Given the description of an element on the screen output the (x, y) to click on. 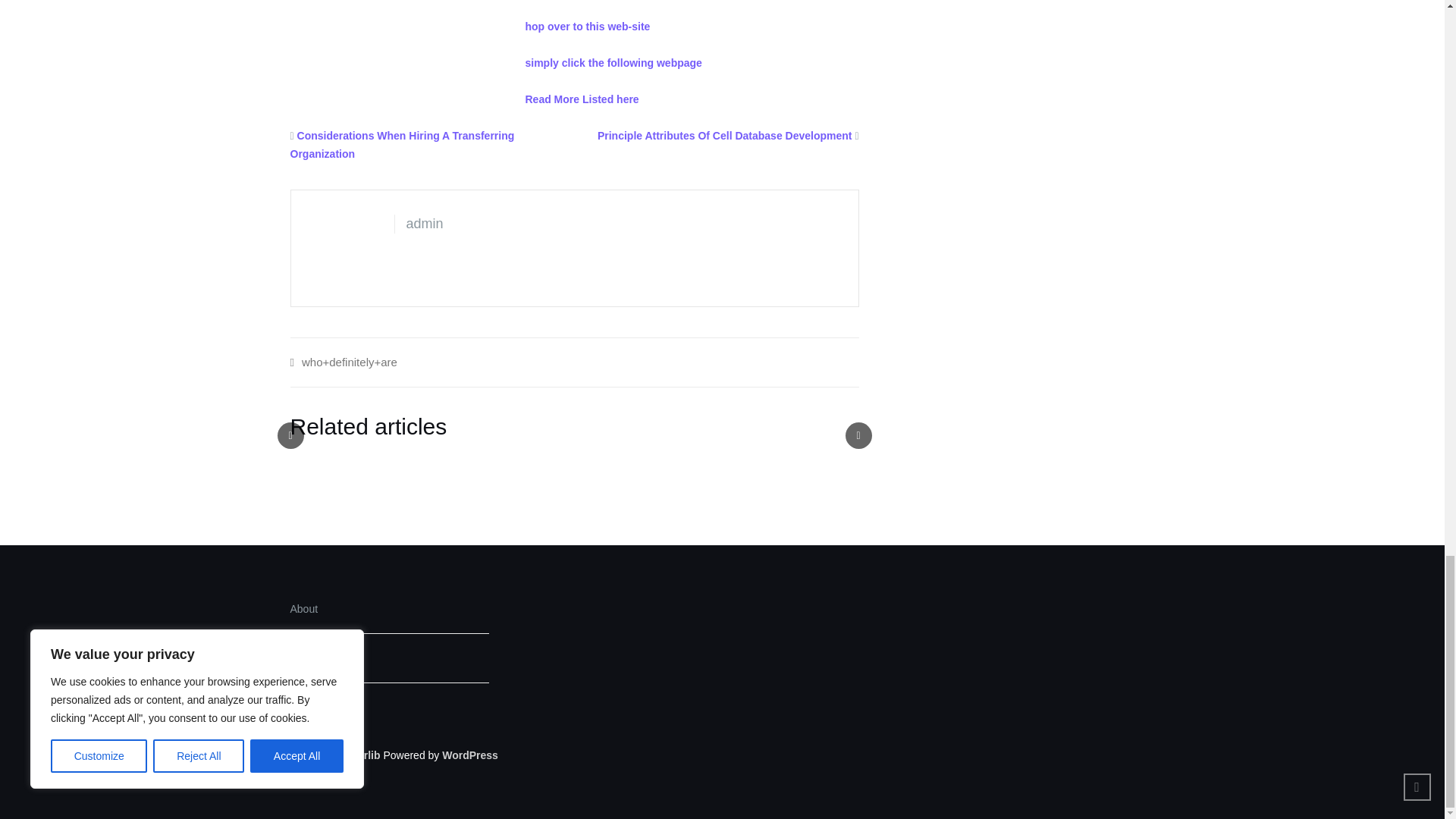
Colorlib (360, 755)
WordPress.org (469, 755)
Considerations When Hiring A Transferring Organization (401, 144)
hop over to this web-site (586, 26)
Principle Attributes Of Cell Database Development (723, 135)
Read More Listed here (581, 99)
simply click the following webpage (612, 62)
